Given the description of an element on the screen output the (x, y) to click on. 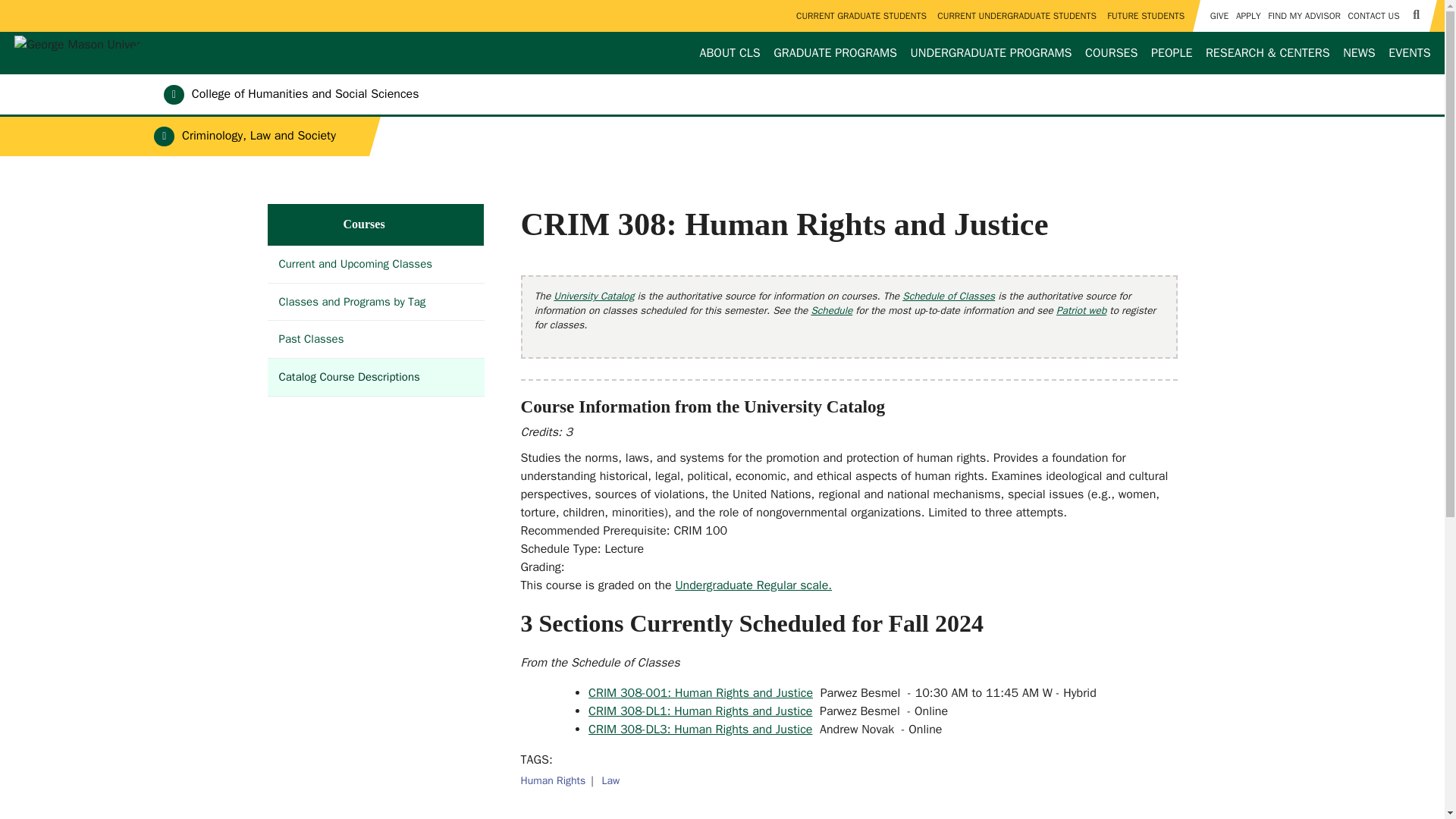
About CLS (729, 52)
UNDERGRADUATE PROGRAMS (991, 52)
Current Graduate Students (861, 15)
Enter search terms (722, 14)
Current Undergraduate Students (1017, 15)
Graduate Programs (835, 52)
NEWS (1359, 52)
ABOUT CLS (729, 52)
FUTURE STUDENTS (1146, 15)
CURRENT UNDERGRADUATE STUDENTS (1017, 15)
